Given the description of an element on the screen output the (x, y) to click on. 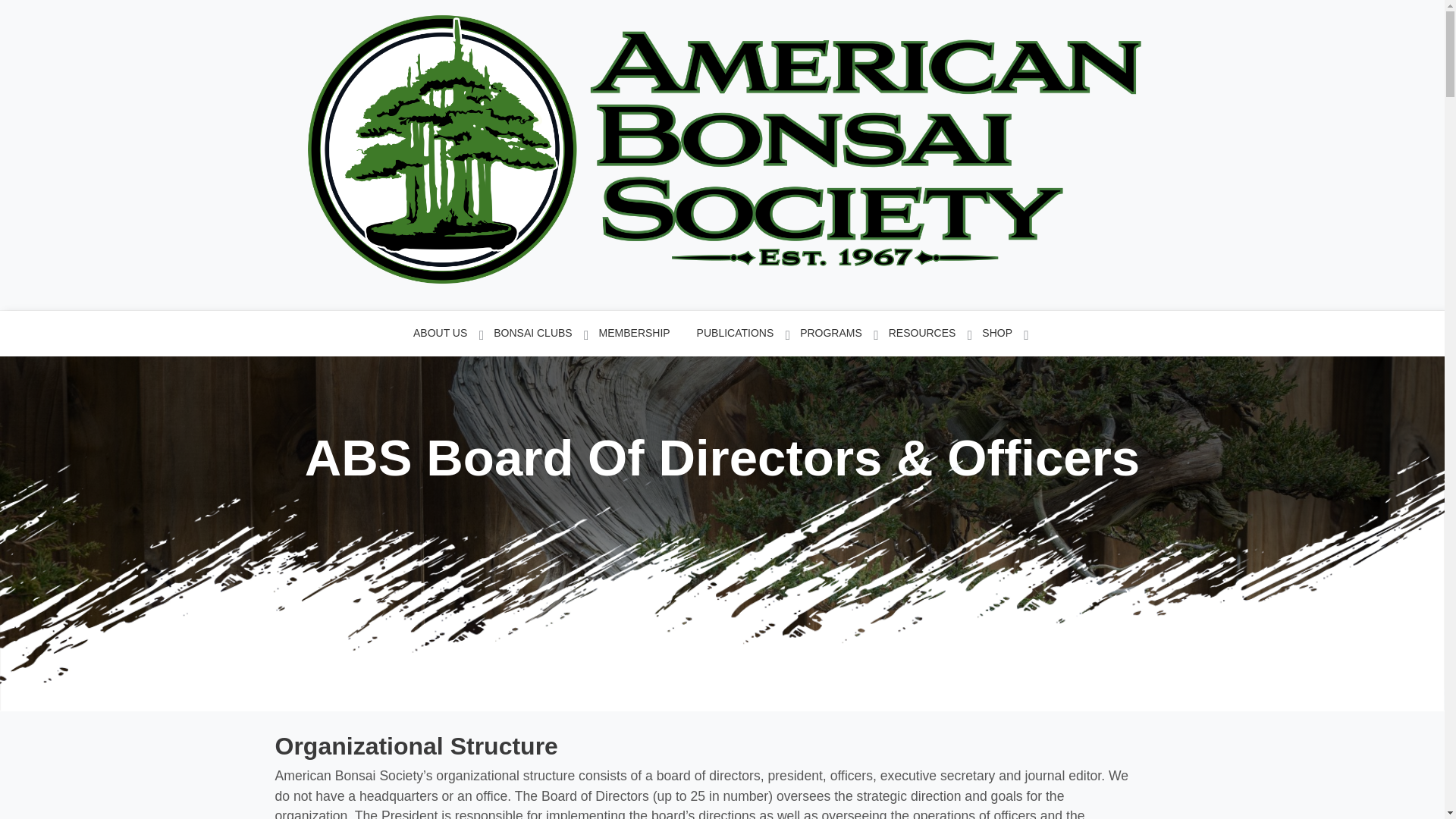
BONSAI CLUBS (542, 333)
PROGRAMS (839, 333)
RESOURCES (931, 333)
SHOP (1005, 333)
MEMBERSHIP (643, 333)
ABOUT US (449, 333)
PUBLICATIONS (745, 333)
